Given the description of an element on the screen output the (x, y) to click on. 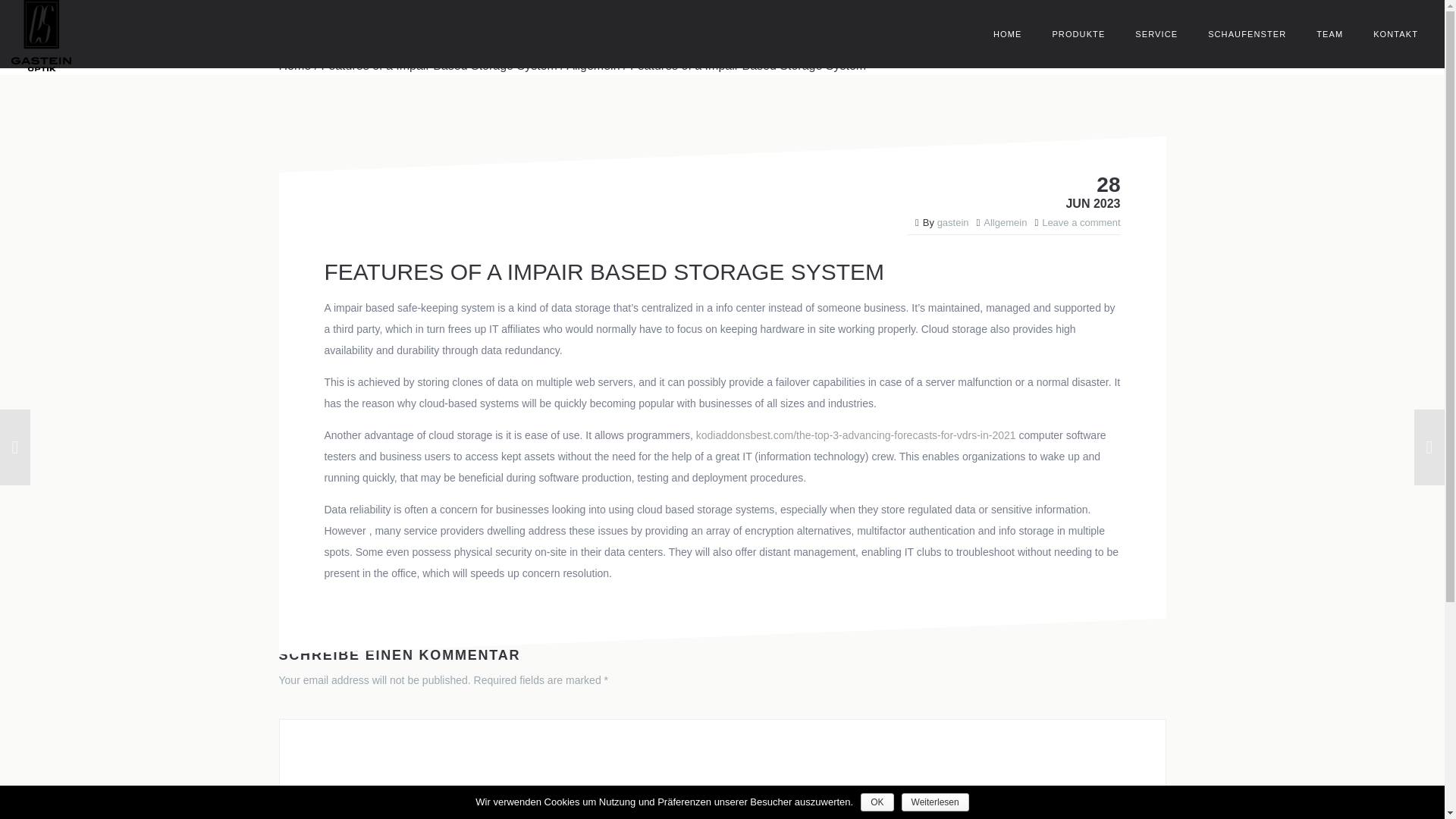
KONTAKT (1395, 33)
Features of a Impair Based Storage System (439, 65)
View all posts by gastein (953, 222)
gastein (953, 222)
Allgemein (593, 65)
SERVICE (1155, 33)
GLORY HOLE TEXAS TRY ONLINE GLORY HOLE SITES! (163, 447)
PRODUKTE (1077, 33)
Weiterlesen (935, 802)
SCHAUFENSTER (1246, 33)
Home (295, 65)
OK (876, 802)
Allgemein (593, 65)
Leave a comment (1080, 222)
Allgemein (1005, 222)
